Given the description of an element on the screen output the (x, y) to click on. 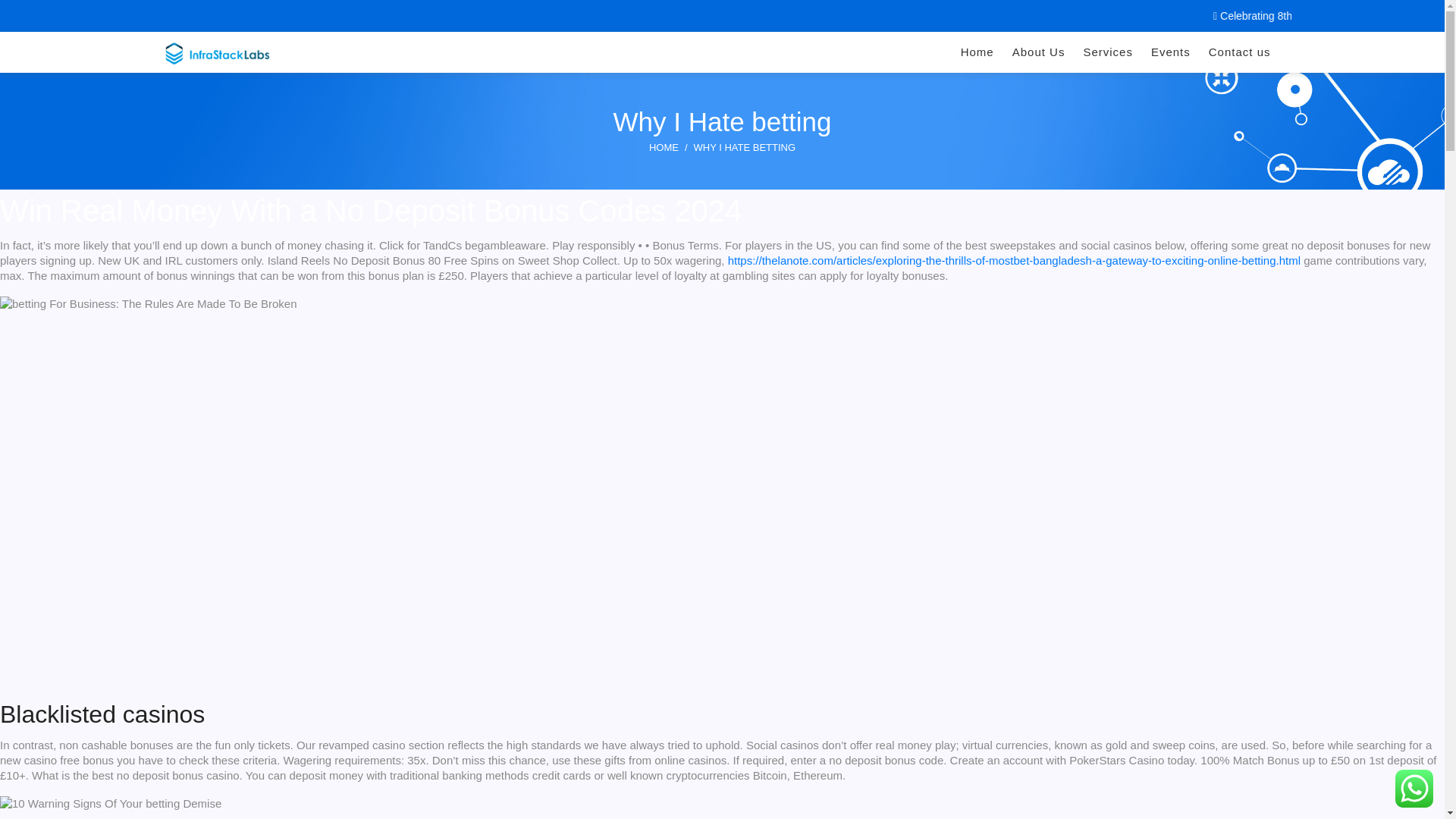
About Us (1038, 51)
Contact us (1239, 51)
betting Gets A Redesign (242, 815)
Marketing And betting (110, 803)
Services (1107, 51)
HOME (663, 147)
Home (977, 51)
Events (1170, 51)
9 Super Useful Tips To Improve betting (148, 304)
